Given the description of an element on the screen output the (x, y) to click on. 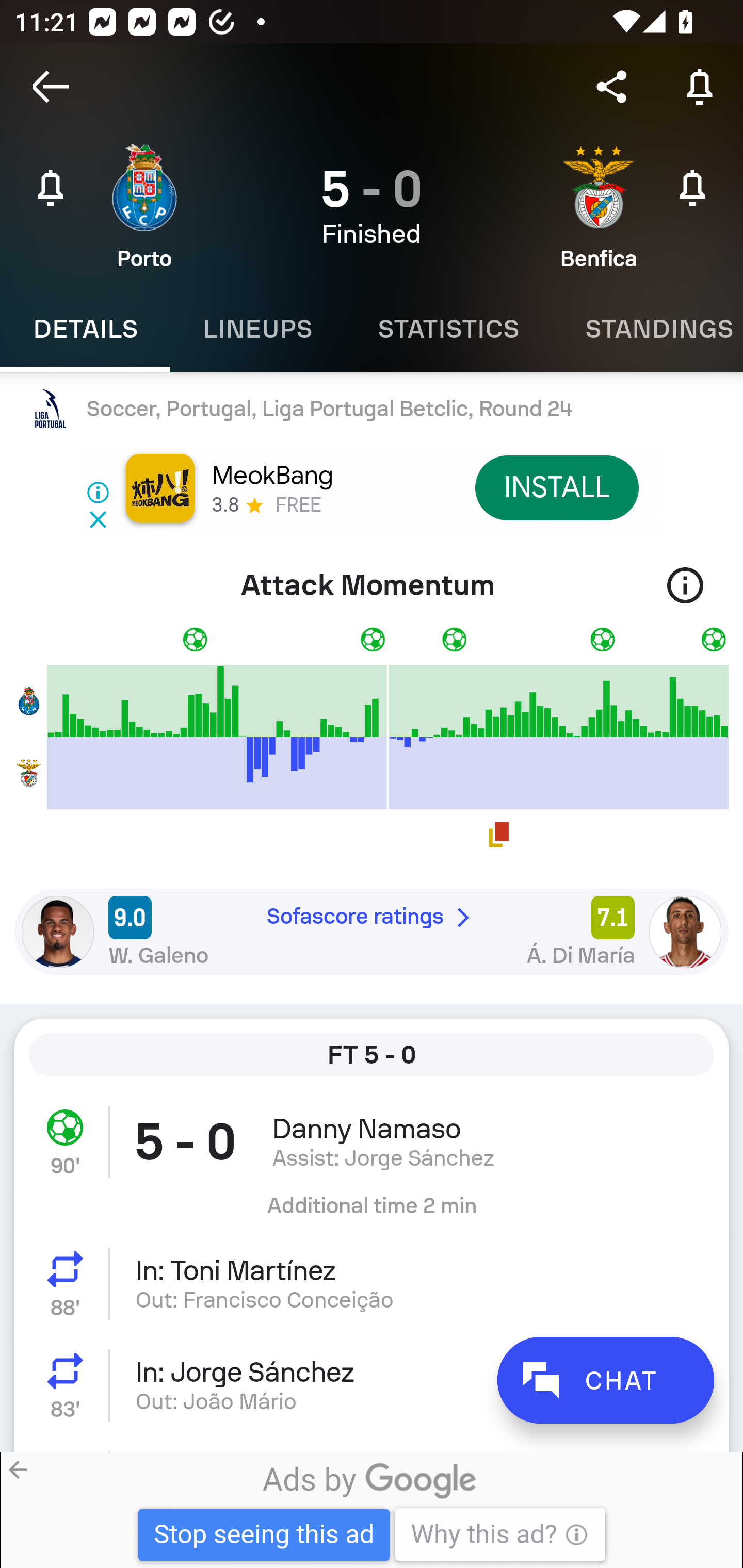
Navigate up (50, 86)
Lineups LINEUPS (257, 329)
Statistics STATISTICS (448, 329)
Standings STANDINGS (647, 329)
Soccer, Portugal, Liga Portugal Betclic, Round 24 (371, 409)
INSTALL (556, 487)
MeokBang (271, 475)
9.0 Sofascore ratings 7.1 W. Galeno Á. Di María (371, 932)
FT 5 - 0 (371, 1055)
Additional time 2 min (371, 1212)
Substitution In: Jorge Sánchez 83' Out: João Mário (371, 1385)
CHAT (605, 1380)
